Given the description of an element on the screen output the (x, y) to click on. 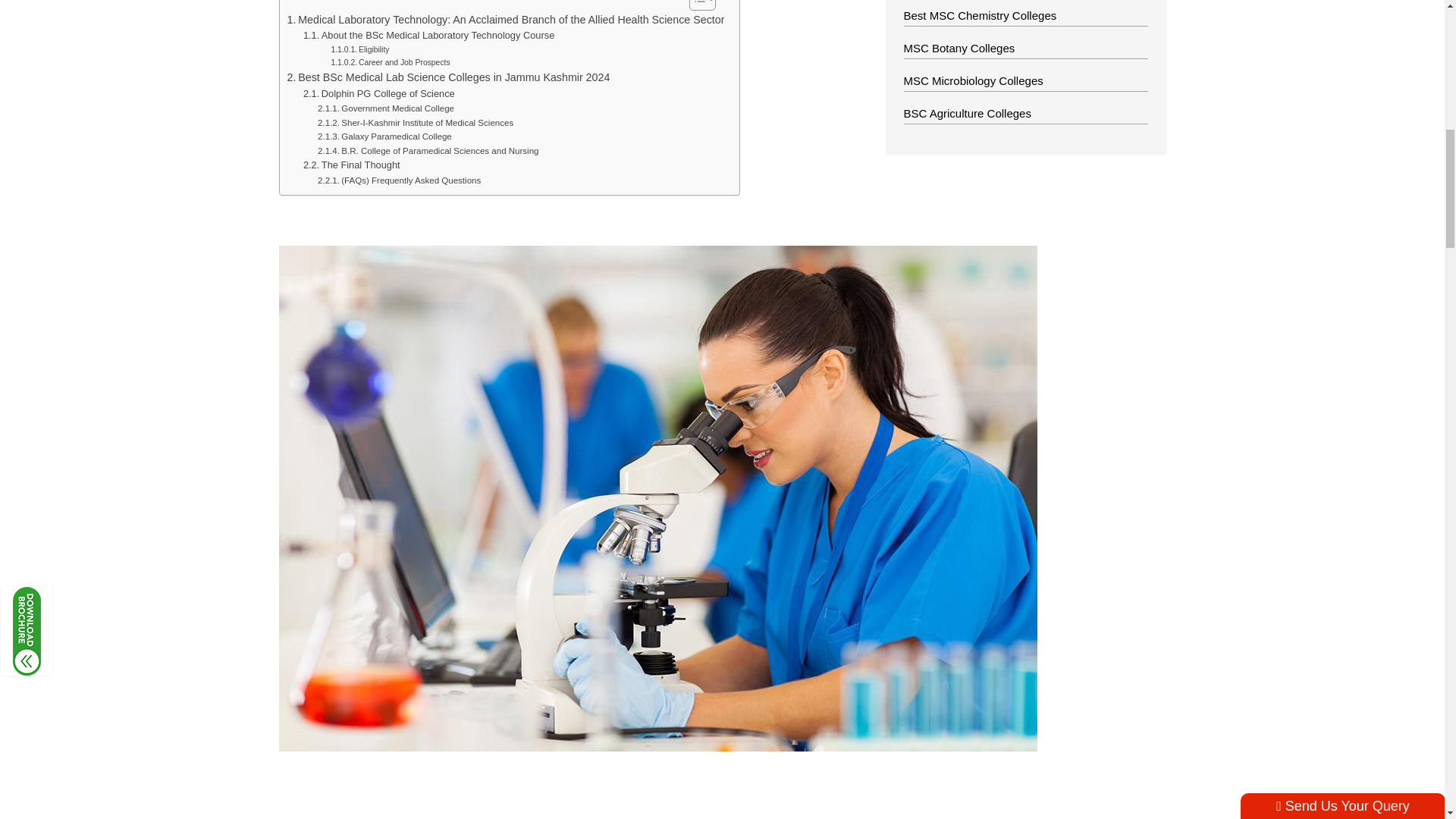
Best BSc Medical Lab Science Colleges in Jammu Kashmir 2024 (448, 77)
About the BSc Medical Laboratory Technology Course (428, 35)
Galaxy Paramedical College (384, 136)
B.R. College of Paramedical Sciences and Nursing (427, 151)
Sher-I-Kashmir Institute of Medical Sciences (415, 122)
Eligibility (359, 50)
Dolphin PG College of Science (378, 94)
The Final Thought (351, 165)
Career and Job Prospects (389, 62)
Government Medical College (385, 108)
